Given the description of an element on the screen output the (x, y) to click on. 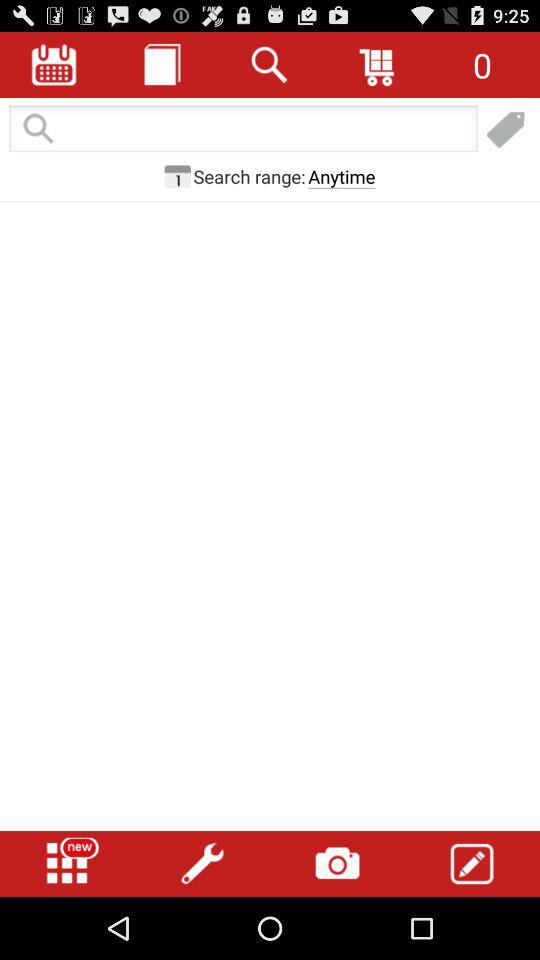
click to search (270, 64)
